Given the description of an element on the screen output the (x, y) to click on. 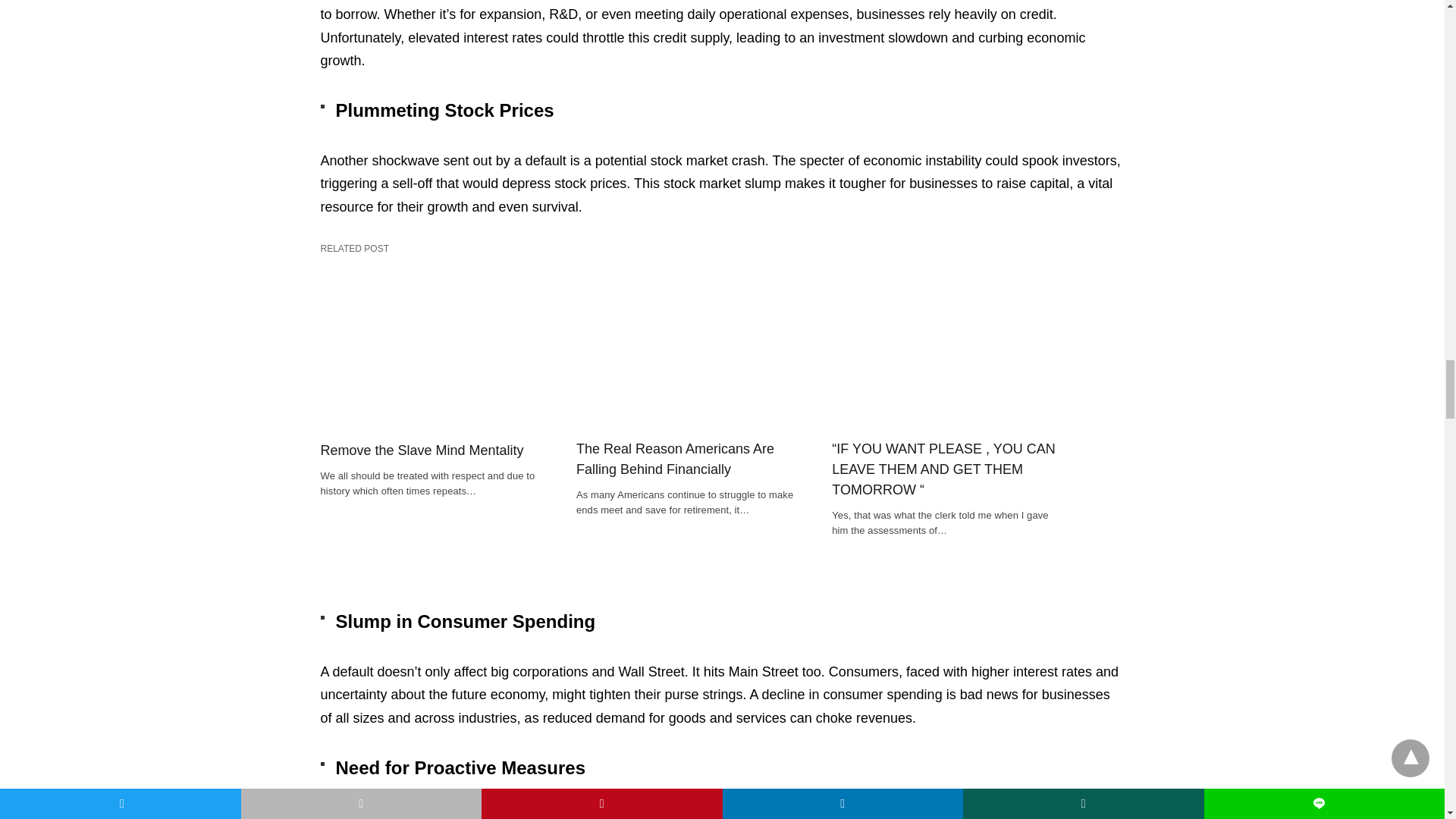
The Real Reason Americans Are Falling Behind Financially (692, 458)
Remove the Slave Mind Mentality (436, 360)
Remove the Slave Mind Mentality (421, 450)
The Real Reason Americans Are Falling Behind Financially (692, 360)
